Given the description of an element on the screen output the (x, y) to click on. 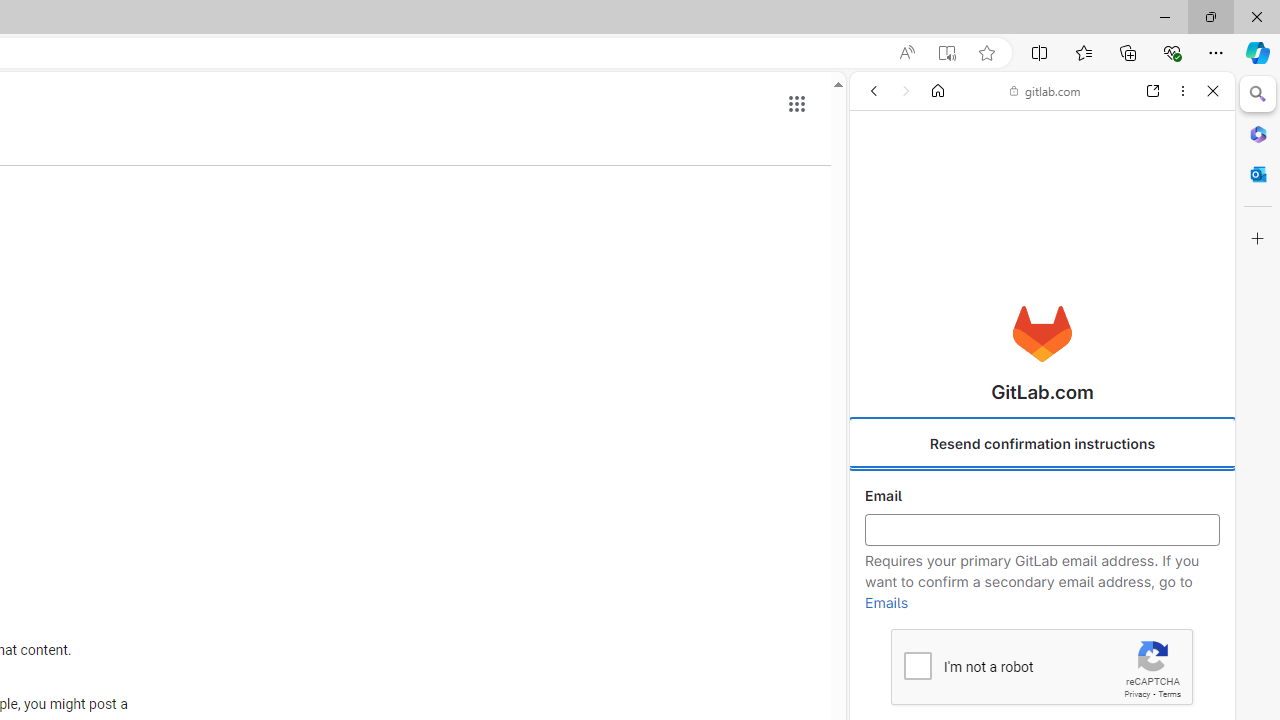
Outlook (1258, 174)
Settings and more (Alt+F) (1215, 52)
Login (1042, 494)
Email (1042, 530)
Enter Immersive Reader (F9) (946, 53)
Favorites (1083, 52)
Customize (1258, 239)
Search Filter, ALL (881, 228)
Restore (1210, 16)
Confirmation Page (1042, 684)
Emails (886, 603)
Resend confirmation instructions (1042, 443)
Search the web (1051, 137)
Read aloud this page (Ctrl+Shift+U) (906, 53)
Register Now (1042, 445)
